Given the description of an element on the screen output the (x, y) to click on. 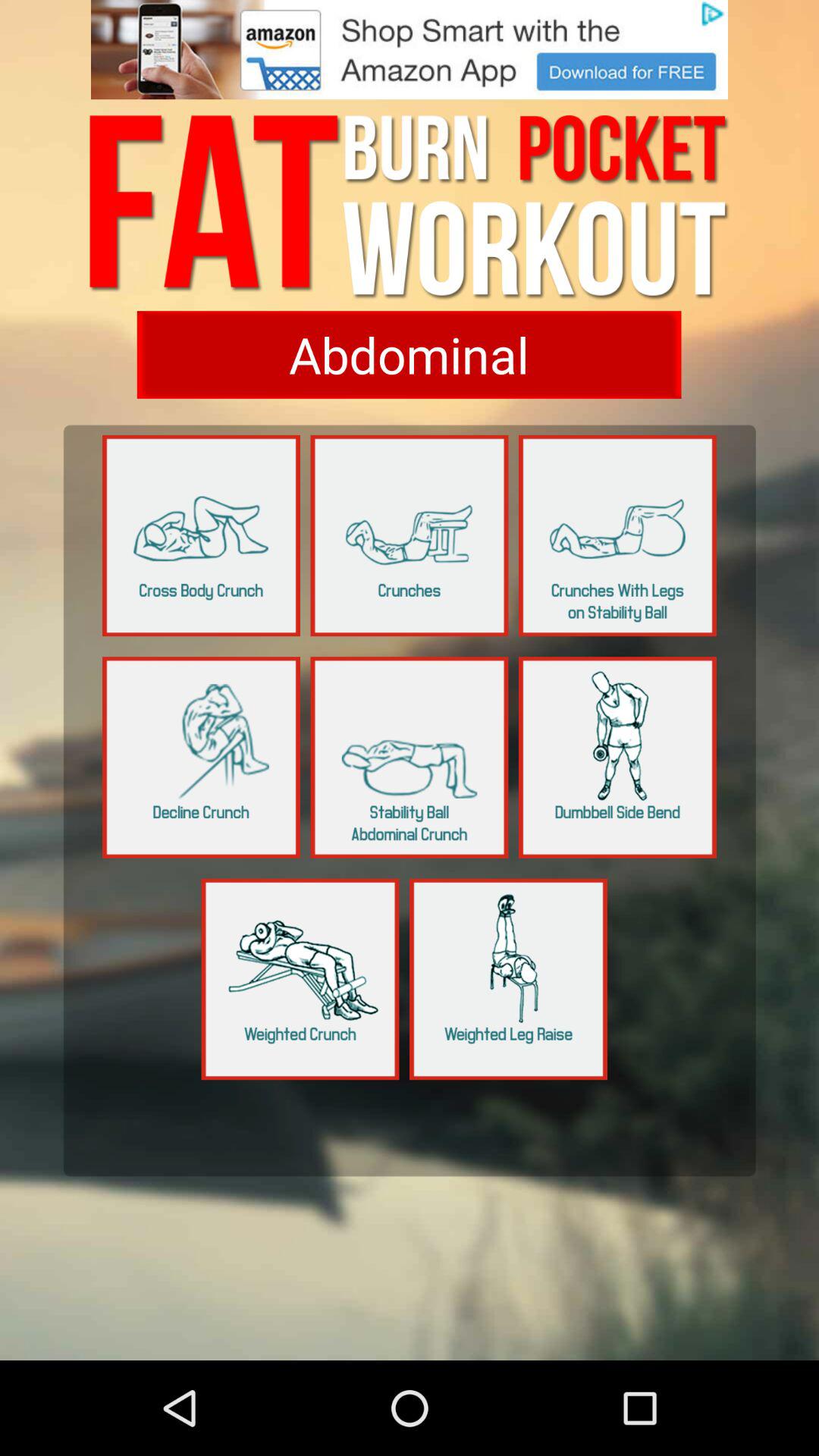
show abdominal exercise (409, 354)
